Given the description of an element on the screen output the (x, y) to click on. 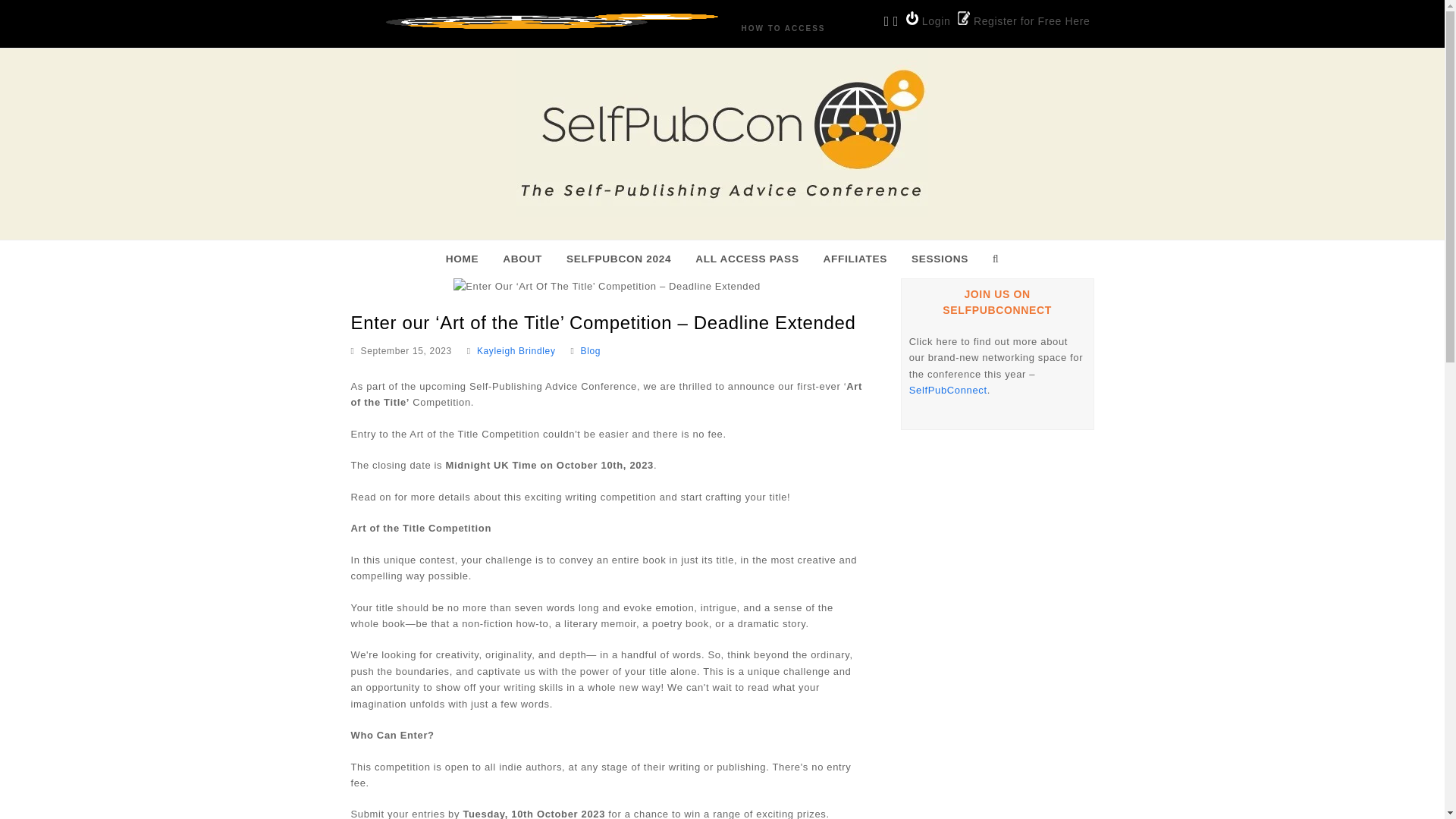
Register for Free Here (1023, 20)
Log in (927, 20)
SESSIONS (939, 259)
ALL ACCESS PASS (746, 259)
Blog (590, 350)
Register for Free Here (1023, 20)
AFFILIATES (854, 259)
ABOUT (522, 259)
Blog (590, 350)
Login (927, 20)
Posts by Kayleigh Brindley (516, 350)
SELFPUBCON 2024 (618, 259)
HOME (461, 259)
HOW TO ACCESS (783, 28)
Kayleigh Brindley (516, 350)
